Given the description of an element on the screen output the (x, y) to click on. 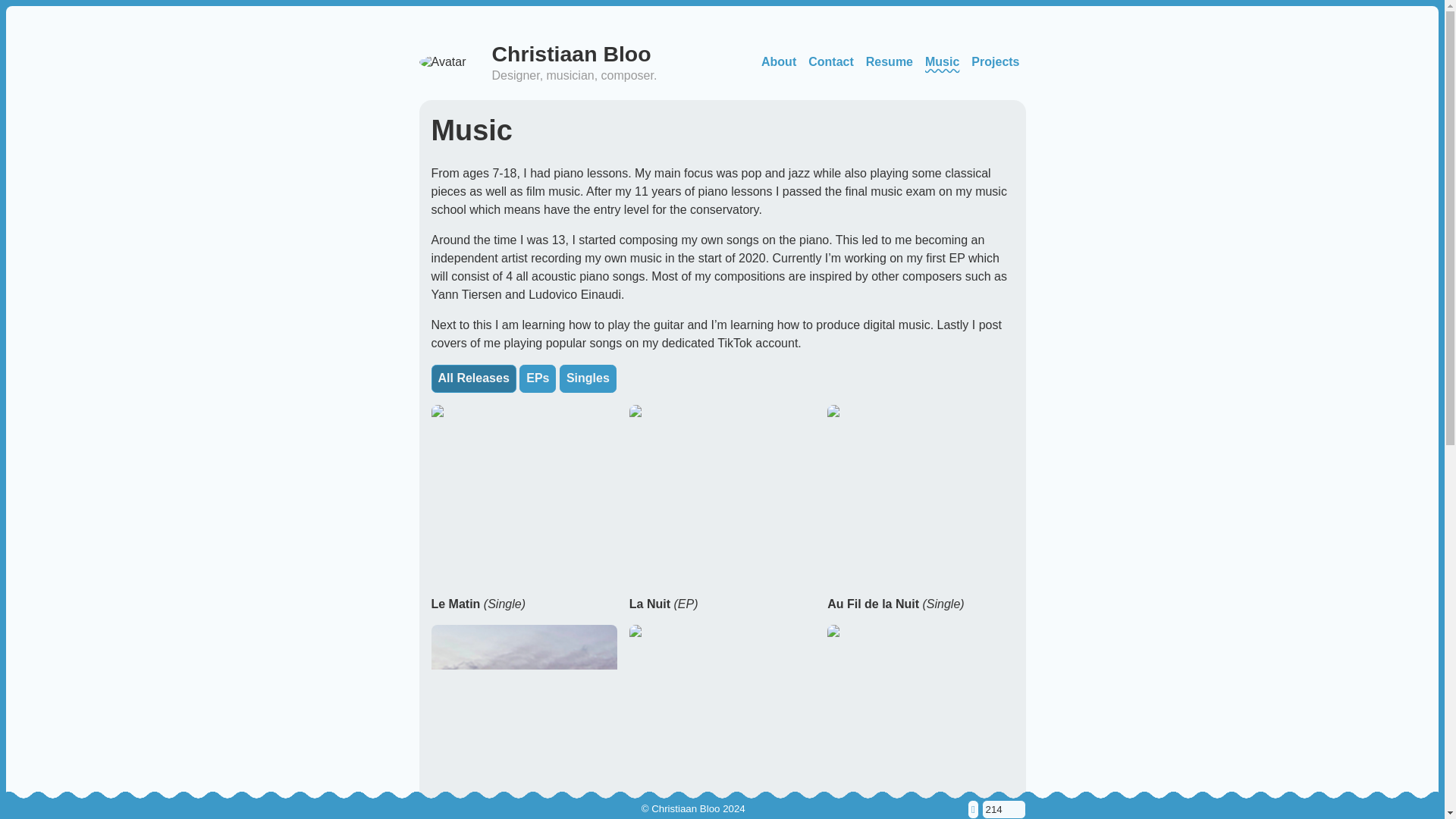
About (778, 62)
Projects (995, 62)
Singles (587, 378)
214 (1003, 809)
Music (941, 62)
EPs (537, 378)
Resume (889, 62)
Christiaan Bloo (571, 53)
Contact (831, 62)
All Releases (472, 378)
